Given the description of an element on the screen output the (x, y) to click on. 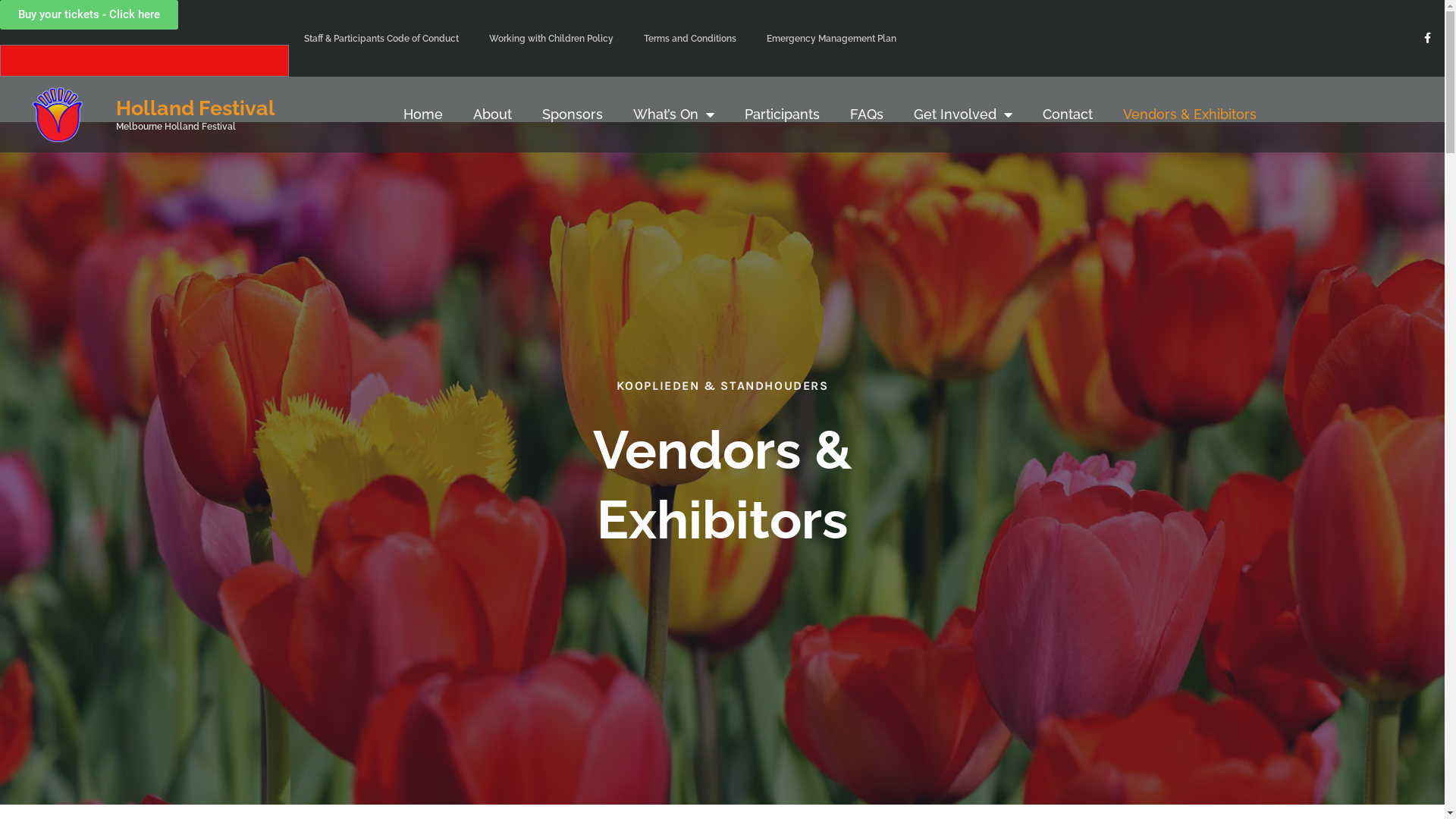
Get Involved Element type: text (962, 114)
About Element type: text (492, 114)
Home Element type: text (423, 114)
Contact Element type: text (1067, 114)
Terms and Conditions Element type: text (689, 38)
FAQs Element type: text (866, 114)
Vendors & Exhibitors Element type: text (1189, 114)
Facebook-f Element type: text (1427, 38)
Holland Festival Element type: text (195, 107)
Working with Children Policy Element type: text (550, 38)
Emergency Management Plan Element type: text (831, 38)
Sponsors Element type: text (572, 114)
Participants Element type: text (781, 114)
Staff & Participants Code of Conduct Element type: text (380, 38)
Buy your tickets - Click here Element type: text (89, 14)
